Given the description of an element on the screen output the (x, y) to click on. 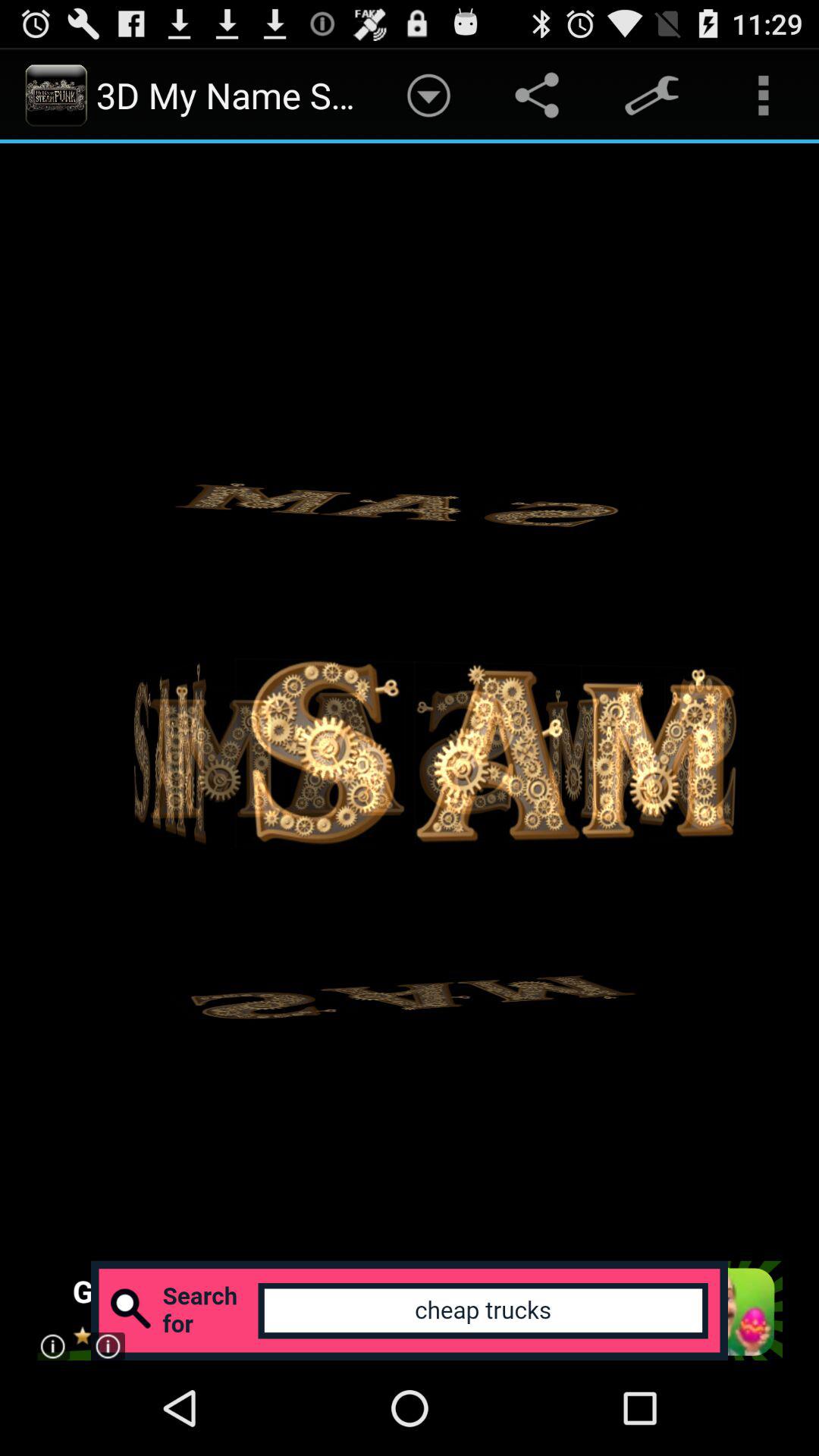
go to search (408, 1310)
